Given the description of an element on the screen output the (x, y) to click on. 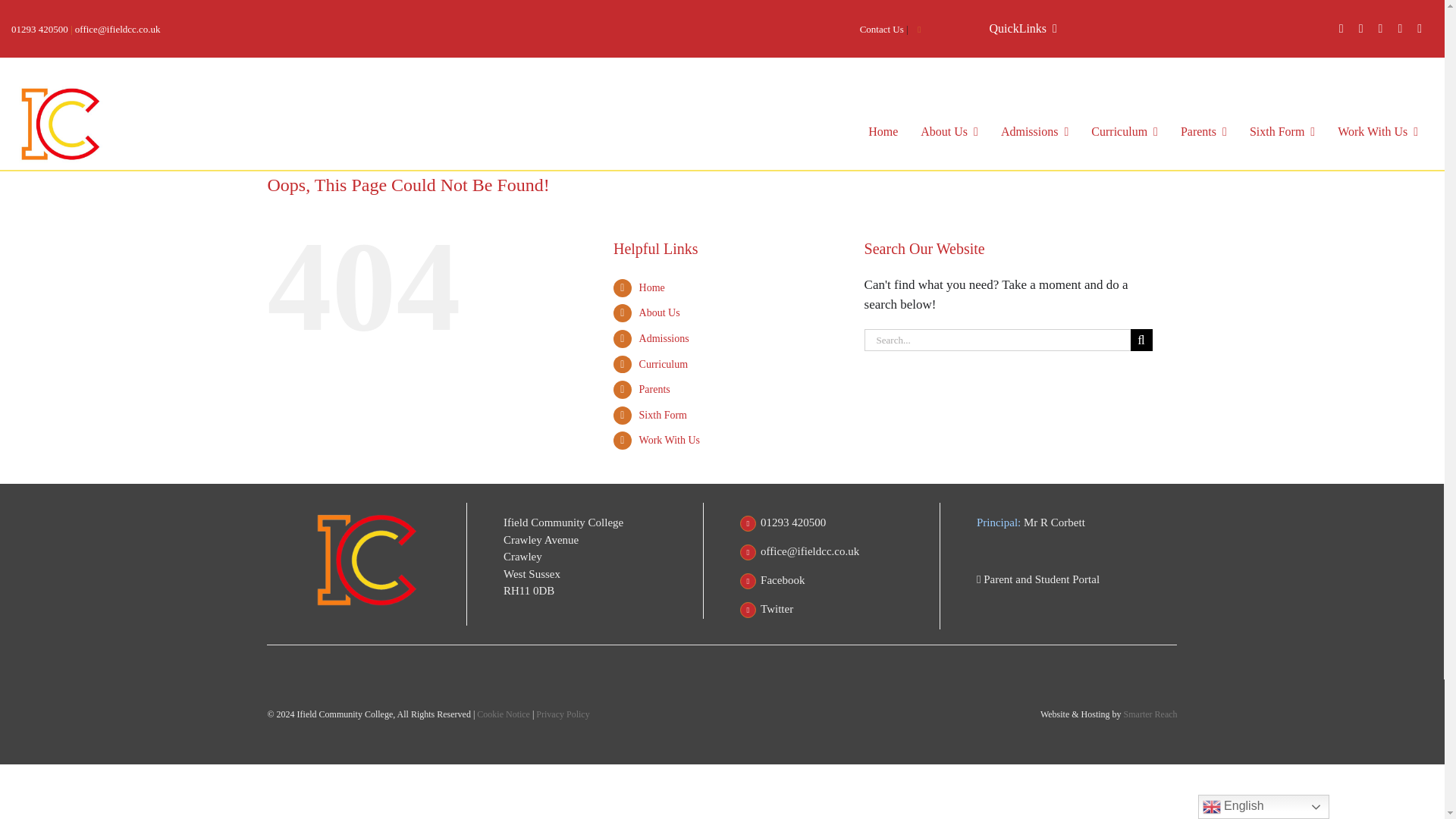
01293 420500 (39, 28)
About Us (949, 131)
Contact Us (882, 29)
Home (882, 131)
QuickLinks (1023, 28)
